Given the description of an element on the screen output the (x, y) to click on. 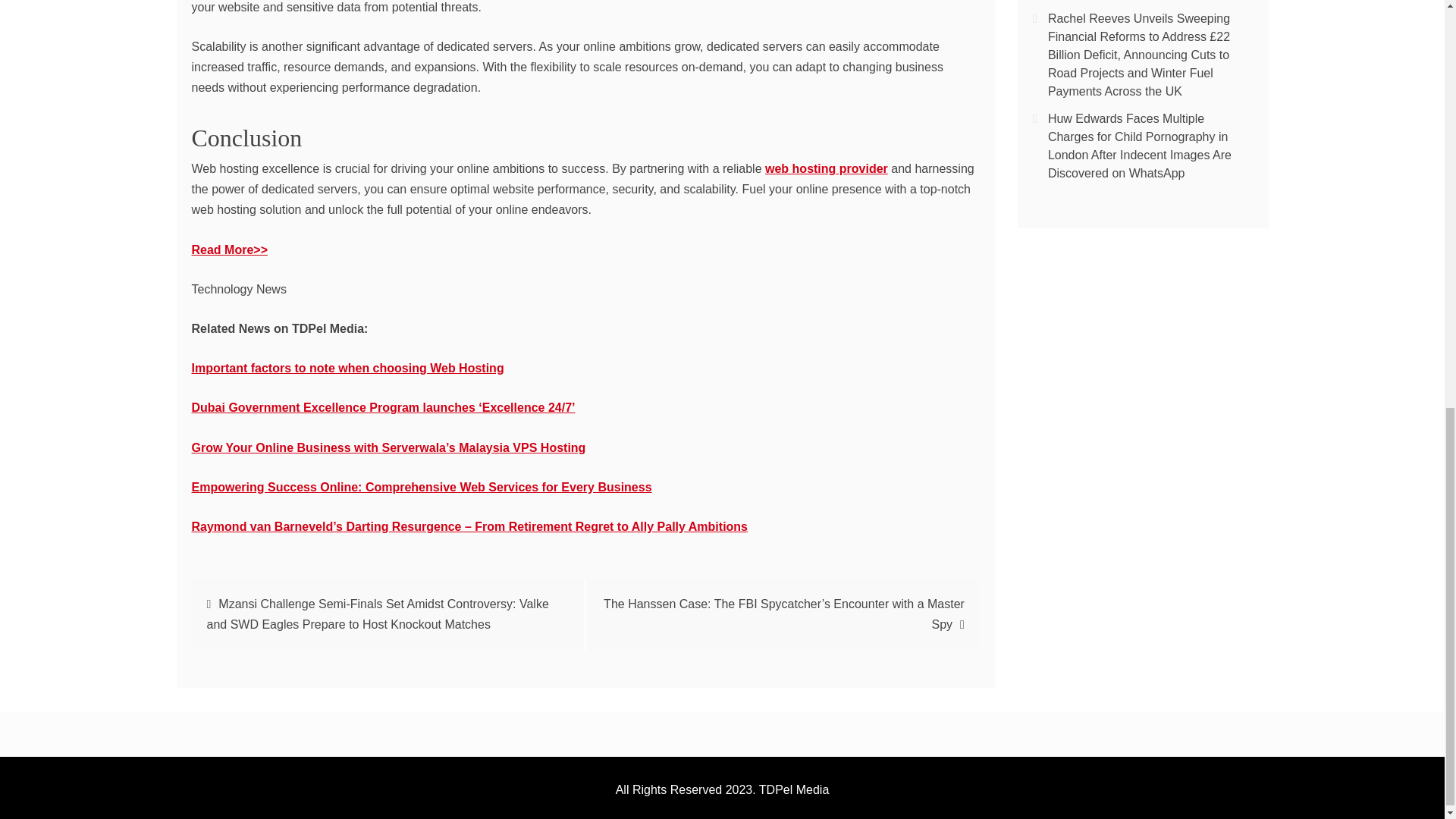
Important factors to note when choosing Web Hosting (346, 367)
web hosting provider (826, 168)
Important factors to note when choosing Web Hosting (346, 367)
